Given the description of an element on the screen output the (x, y) to click on. 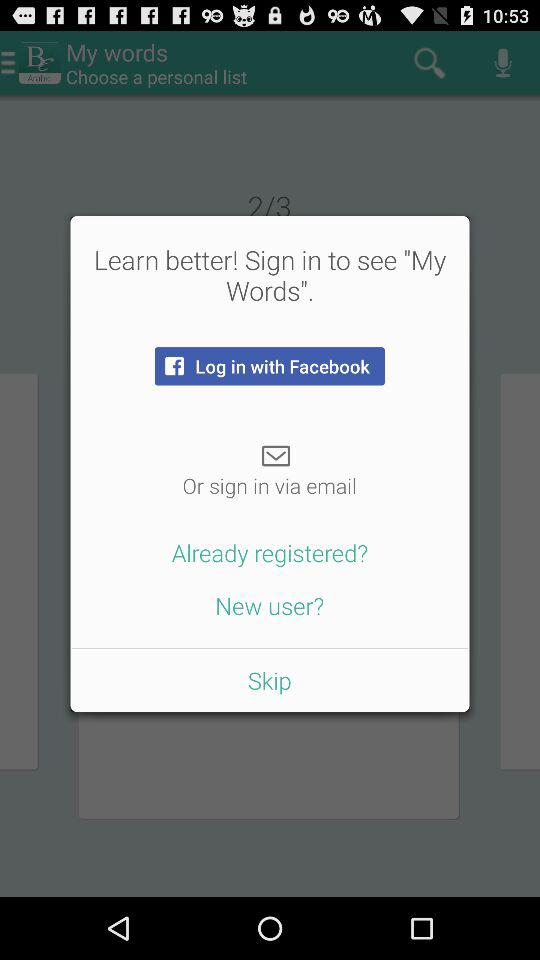
open new user? item (269, 605)
